Given the description of an element on the screen output the (x, y) to click on. 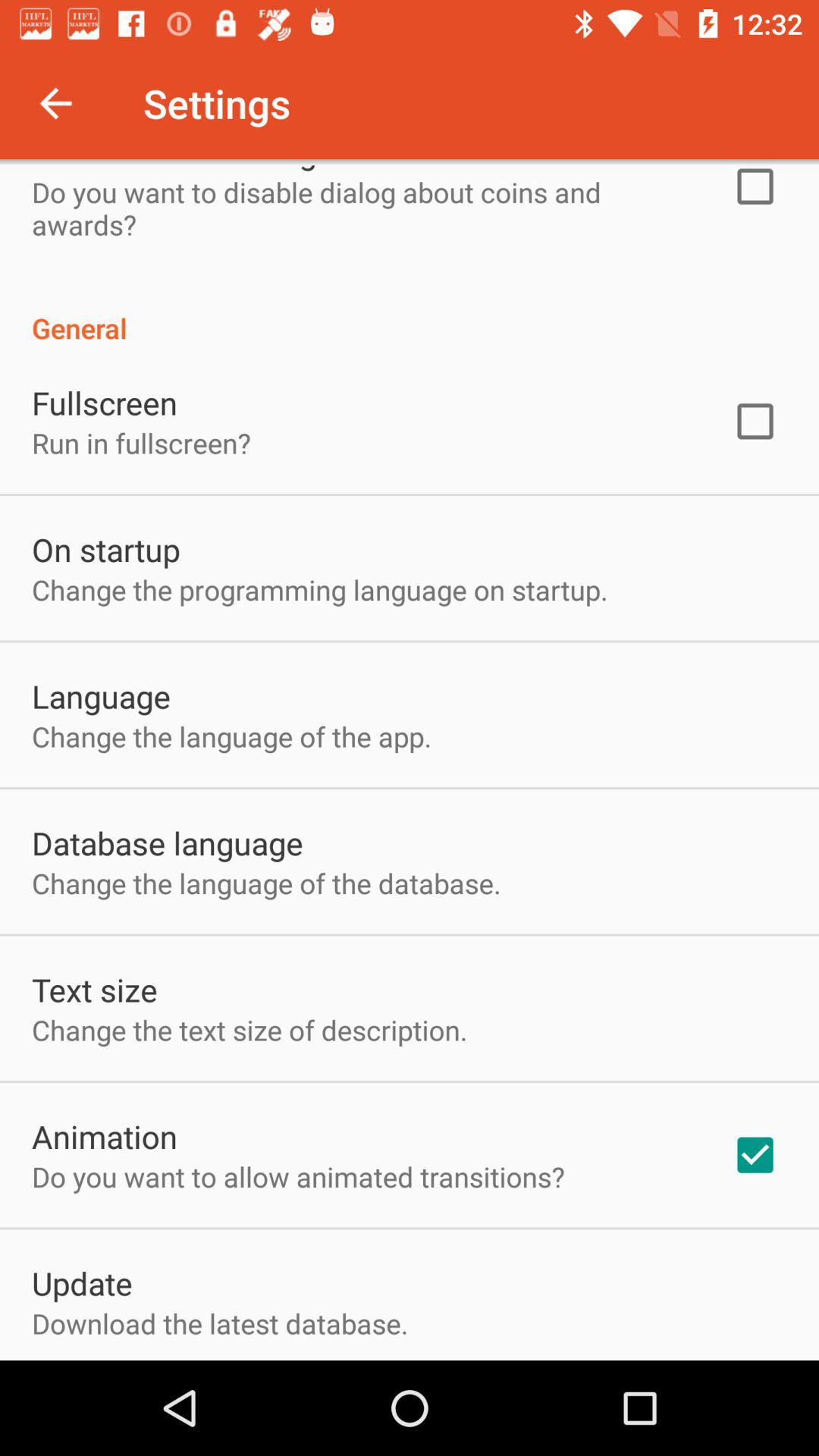
turn off icon below change the text icon (104, 1135)
